Given the description of an element on the screen output the (x, y) to click on. 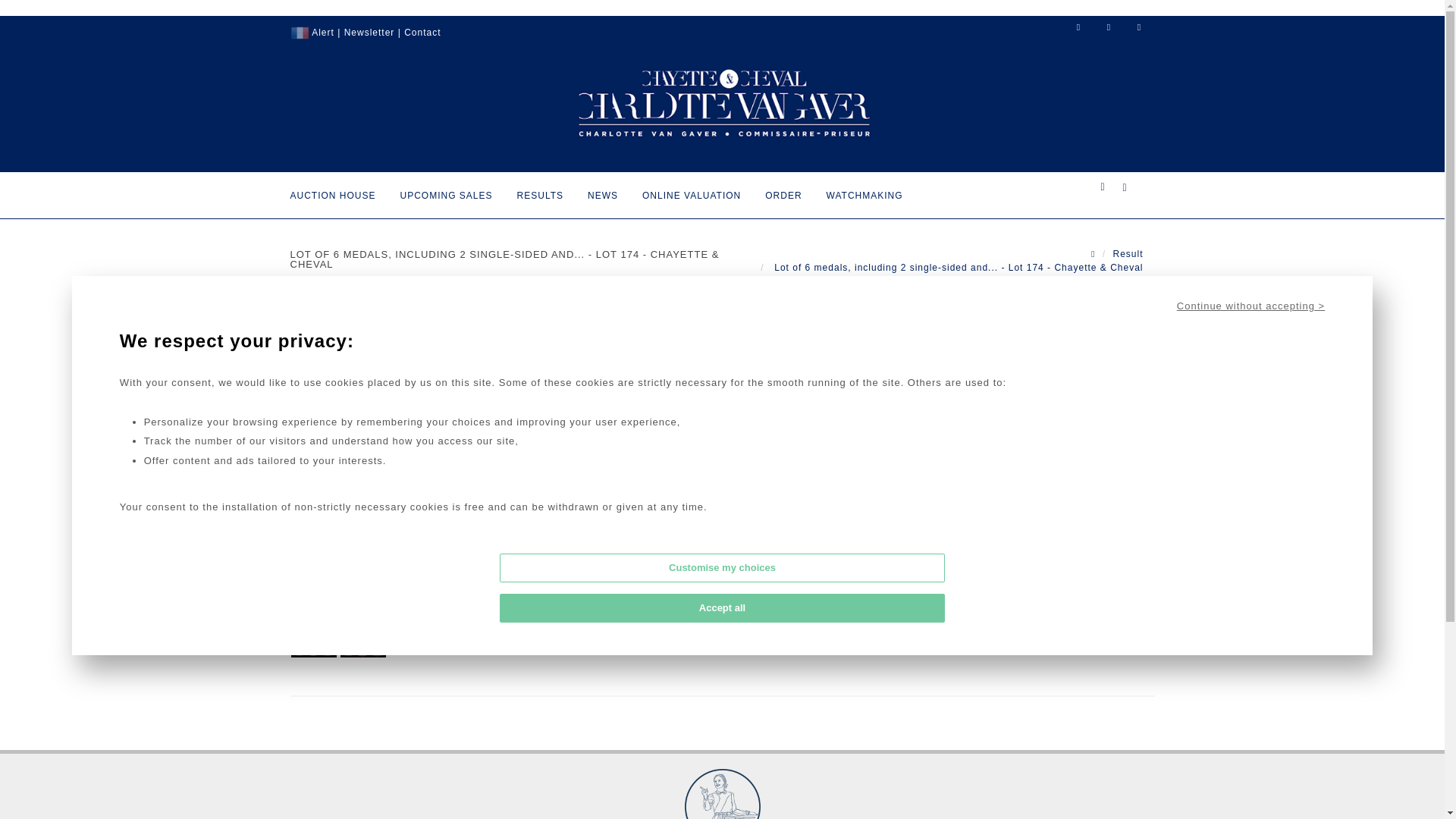
ONLINE VALUATION (691, 191)
UPCOMING SALES (445, 191)
Result (1127, 253)
NEWS (602, 191)
RESULTS (540, 191)
AUCTION HOUSE (333, 191)
WATCHMAKING (864, 191)
Contact (422, 32)
ORDER (783, 191)
Alert (322, 32)
